Given the description of an element on the screen output the (x, y) to click on. 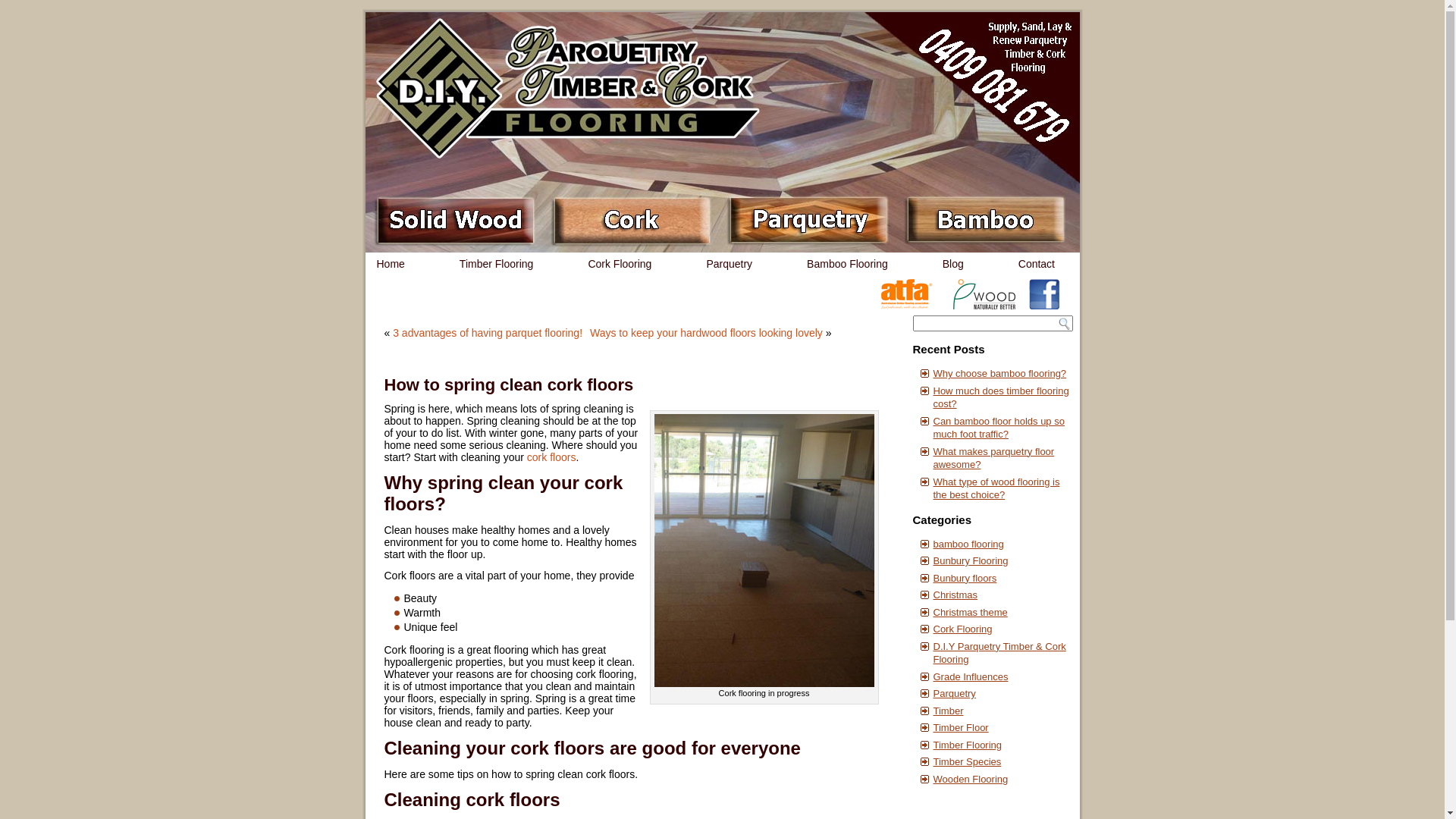
Blog Element type: text (952, 263)
Timber Element type: text (947, 710)
D.I.Y Parquetry Timber & Cork Flooring Element type: text (998, 652)
Timber Floor Element type: text (960, 727)
Parquetry Element type: text (953, 693)
Bunbury floors Element type: text (964, 577)
cork floors Element type: text (551, 457)
3 advantages of having parquet flooring! Element type: text (487, 332)
Why choose bamboo flooring? Element type: text (999, 373)
Timber Flooring Element type: text (496, 263)
Home Element type: text (390, 263)
Cork Flooring Element type: text (619, 263)
Grade Influences Element type: text (969, 675)
What type of wood flooring is the best choice? Element type: text (995, 488)
Parquetry Element type: text (729, 263)
Ways to keep your hardwood floors looking lovely Element type: text (705, 332)
Cork Flooring Element type: text (961, 628)
Wooden Flooring Element type: text (969, 778)
Can bamboo floor holds up so much foot traffic? Element type: text (997, 427)
Timber Species Element type: text (966, 761)
Facebook Element type: hover (1043, 305)
bamboo flooring Element type: text (967, 543)
Bunbury Flooring Element type: text (969, 560)
What makes parquetry floor awesome? Element type: text (993, 457)
Bamboo Flooring Element type: text (847, 263)
Timber Flooring Element type: text (966, 743)
Wood Naturally Better Element type: hover (983, 305)
Christmas Element type: text (954, 594)
Contact Element type: text (1036, 263)
Australian Timber Flooring Association Element type: hover (906, 305)
How much does timber flooring cost? Element type: text (1000, 397)
Christmas theme Element type: text (969, 612)
